Given the description of an element on the screen output the (x, y) to click on. 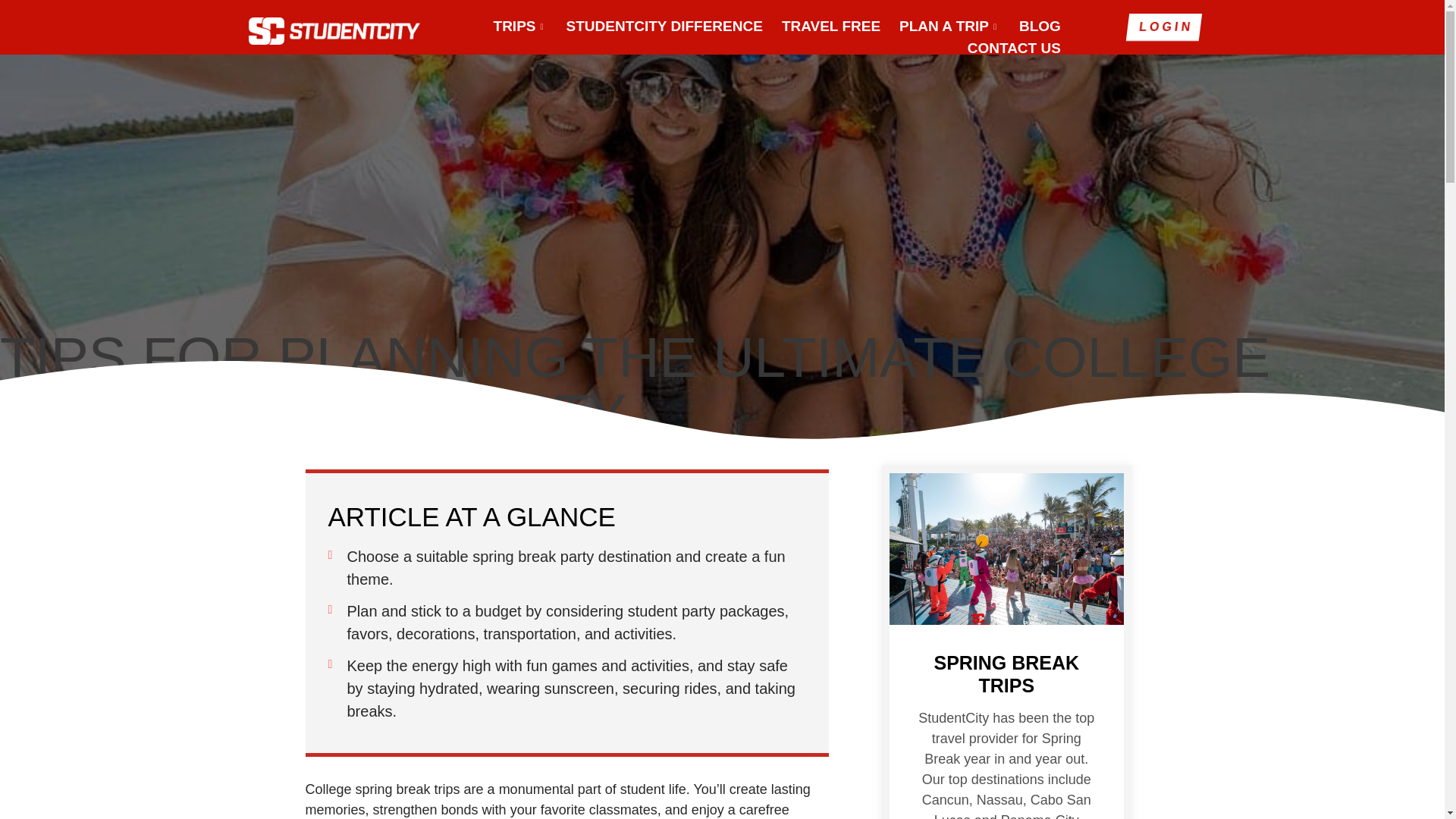
PLAN A TRIP (940, 26)
TRAVEL FREE (821, 26)
TRIPS (510, 26)
STUDENTCITY DIFFERENCE (654, 26)
